Given the description of an element on the screen output the (x, y) to click on. 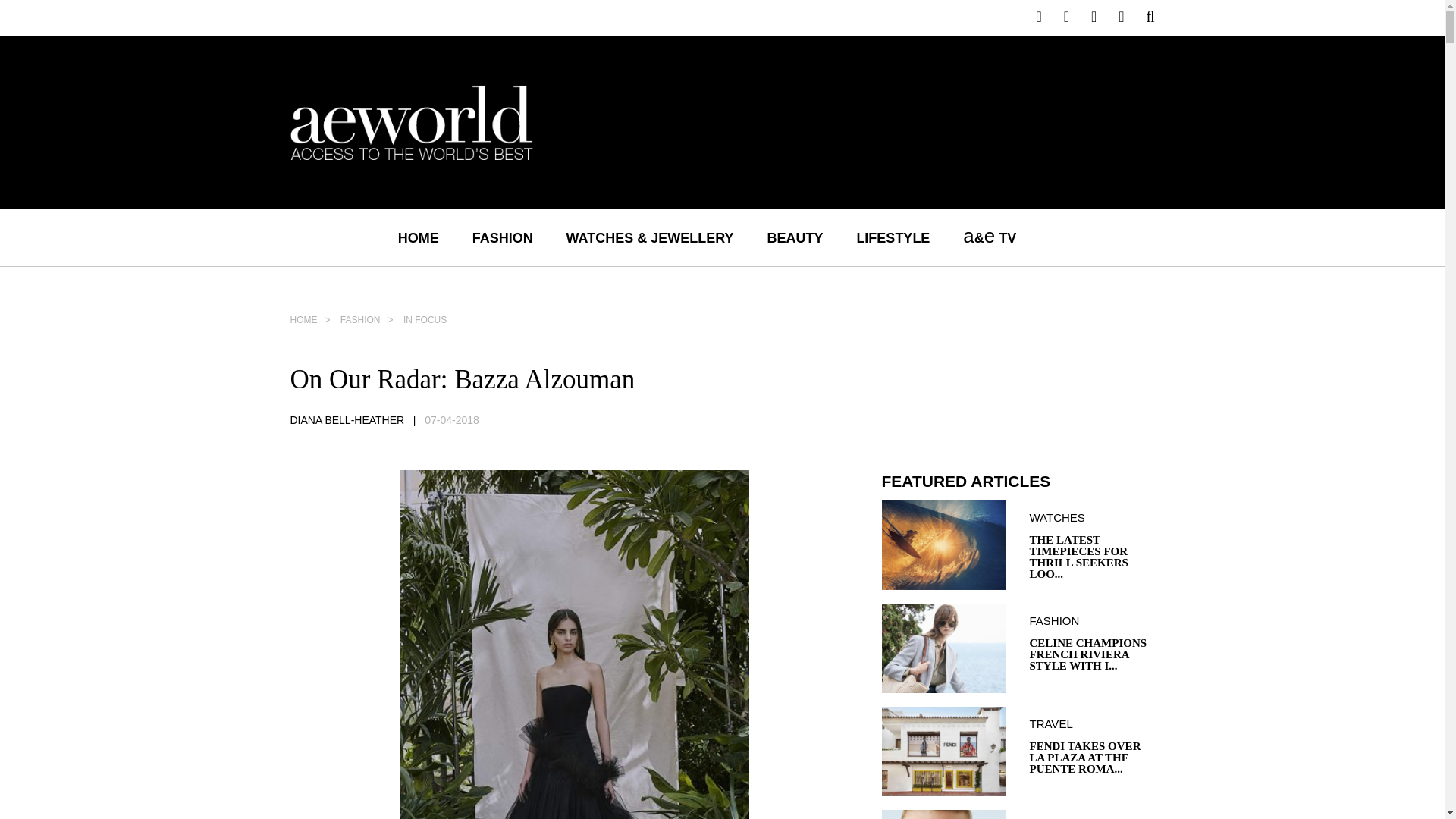
HOME (313, 319)
BEAUTY (794, 237)
TRAVEL (1091, 723)
HOME (418, 237)
LIFESTYLE (893, 237)
FASHION (1091, 620)
FENDI TAKES OVER LA PLAZA AT THE PUENTE ROMA... (1091, 757)
THE LATEST TIMEPIECES FOR THRILL SEEKERS LOO... (1091, 556)
FASHION (369, 319)
IN FOCUS (423, 319)
WATCHES (1091, 517)
FASHION (501, 237)
CELINE CHAMPIONS FRENCH RIVIERA STYLE WITH I... (1091, 654)
